Given the description of an element on the screen output the (x, y) to click on. 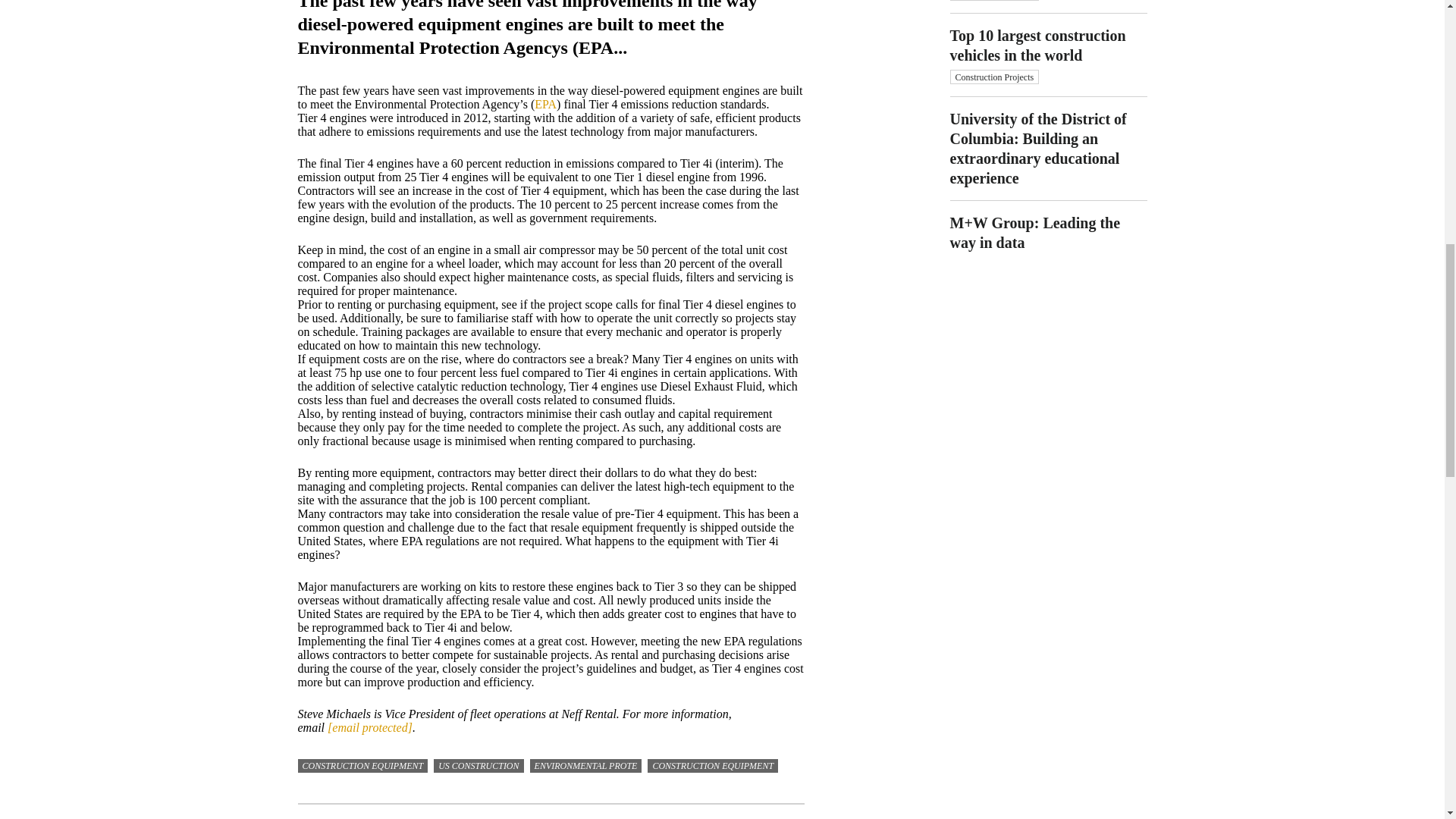
ENVIRONMENTAL PROTE (585, 766)
US CONSTRUCTION (477, 766)
EPA (545, 103)
CONSTRUCTION EQUIPMENT (362, 766)
CONSTRUCTION EQUIPMENT (712, 766)
